Given the description of an element on the screen output the (x, y) to click on. 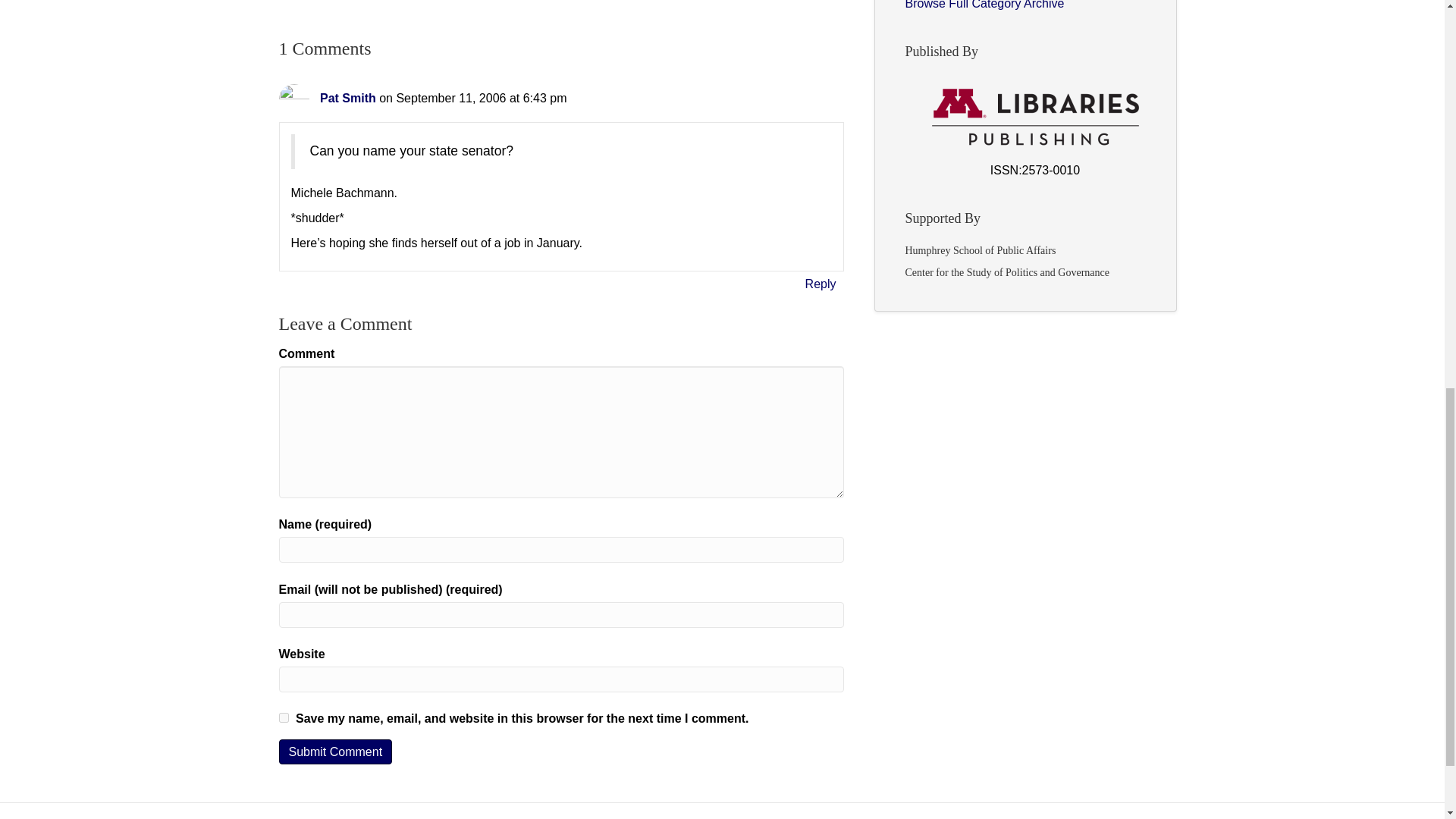
Submit Comment (336, 751)
yes (283, 717)
